Given the description of an element on the screen output the (x, y) to click on. 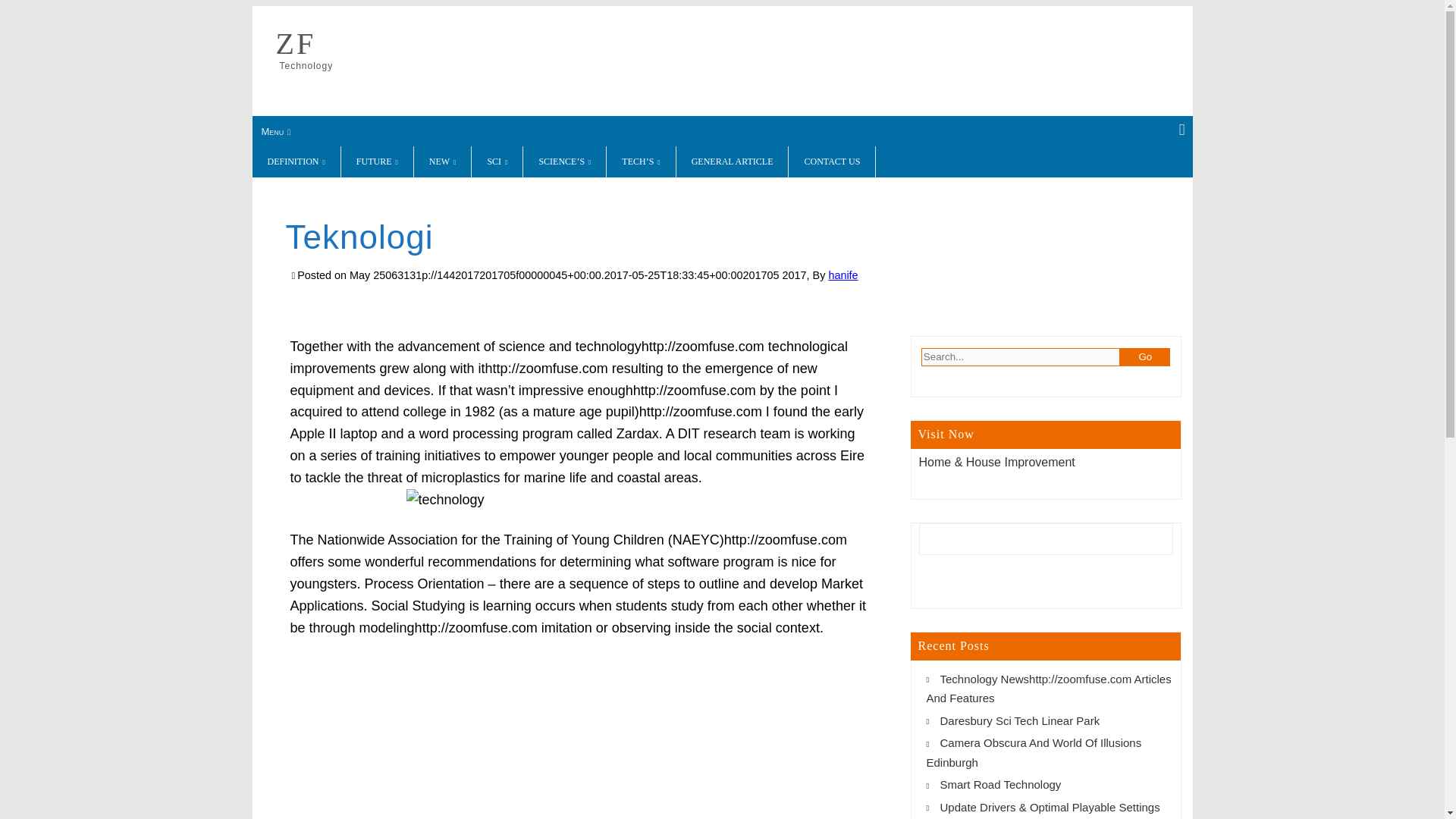
View all posts by hanife (842, 275)
SCI (496, 161)
Go (1144, 357)
Go (1144, 357)
FUTURE (376, 161)
Camera Obscura And World Of Illusions Edinburgh (1033, 752)
GENERAL ARTICLE (733, 161)
DEFINITION (295, 161)
NEW (442, 161)
CONTACT US (832, 161)
hanife (842, 275)
Smart Road Technology (1000, 784)
ZF (295, 43)
Daresbury Sci Tech Linear Park (1020, 720)
